Given the description of an element on the screen output the (x, y) to click on. 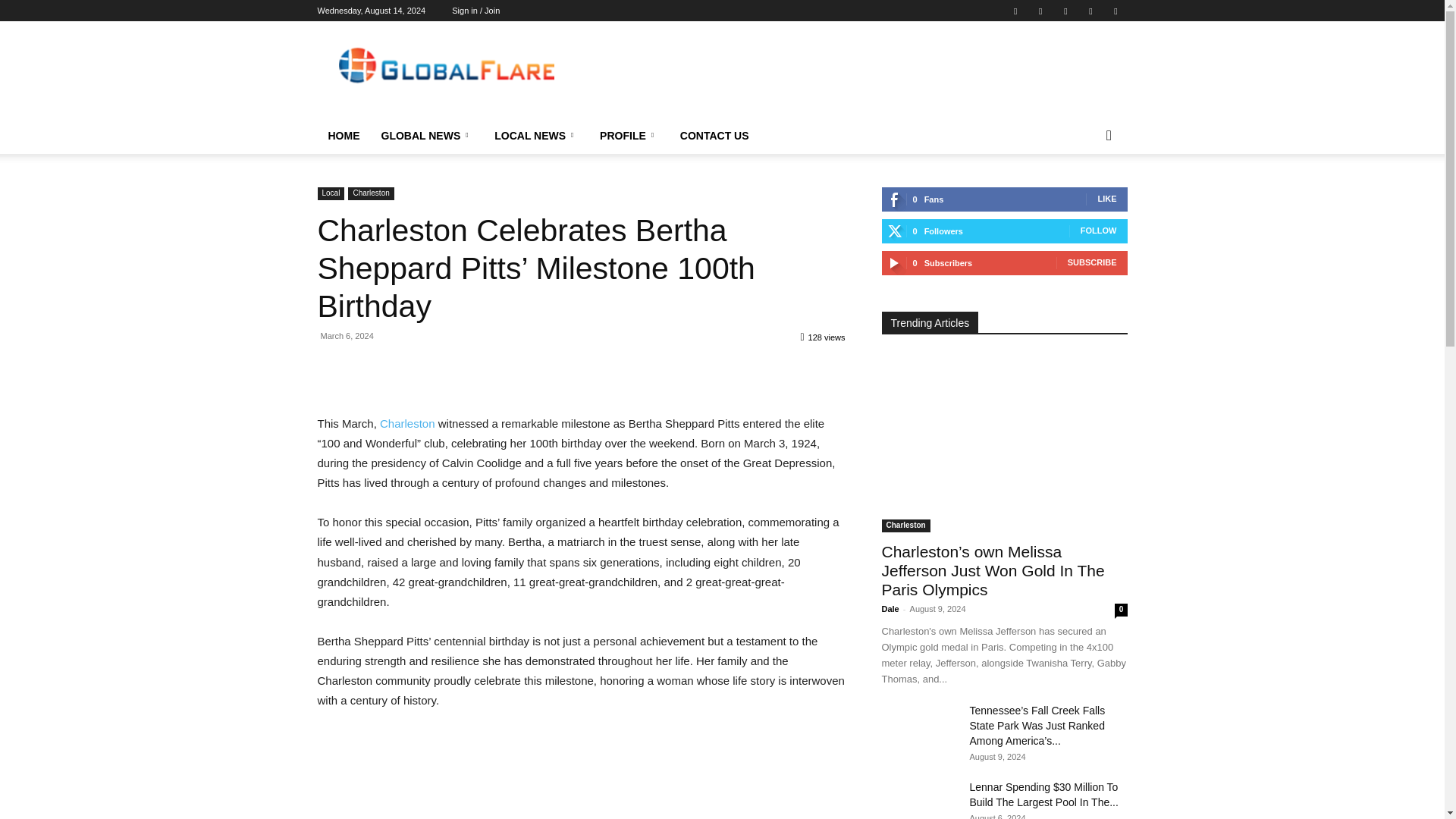
Youtube (1114, 10)
Twitter (1040, 10)
VKontakte (1090, 10)
Vimeo (1065, 10)
Facebook (1015, 10)
